Given the description of an element on the screen output the (x, y) to click on. 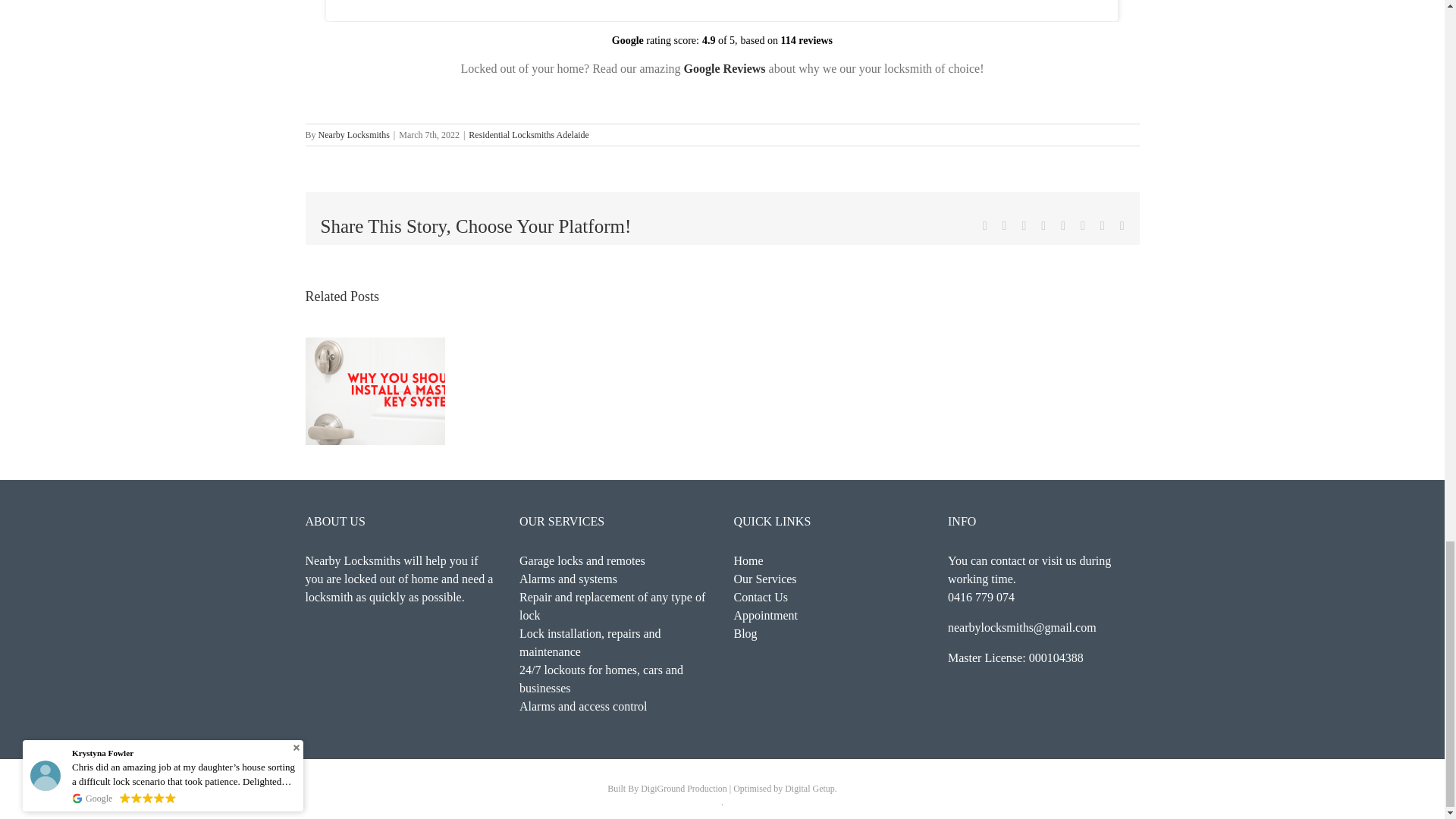
Posts by Nearby Locksmiths (354, 134)
